Given the description of an element on the screen output the (x, y) to click on. 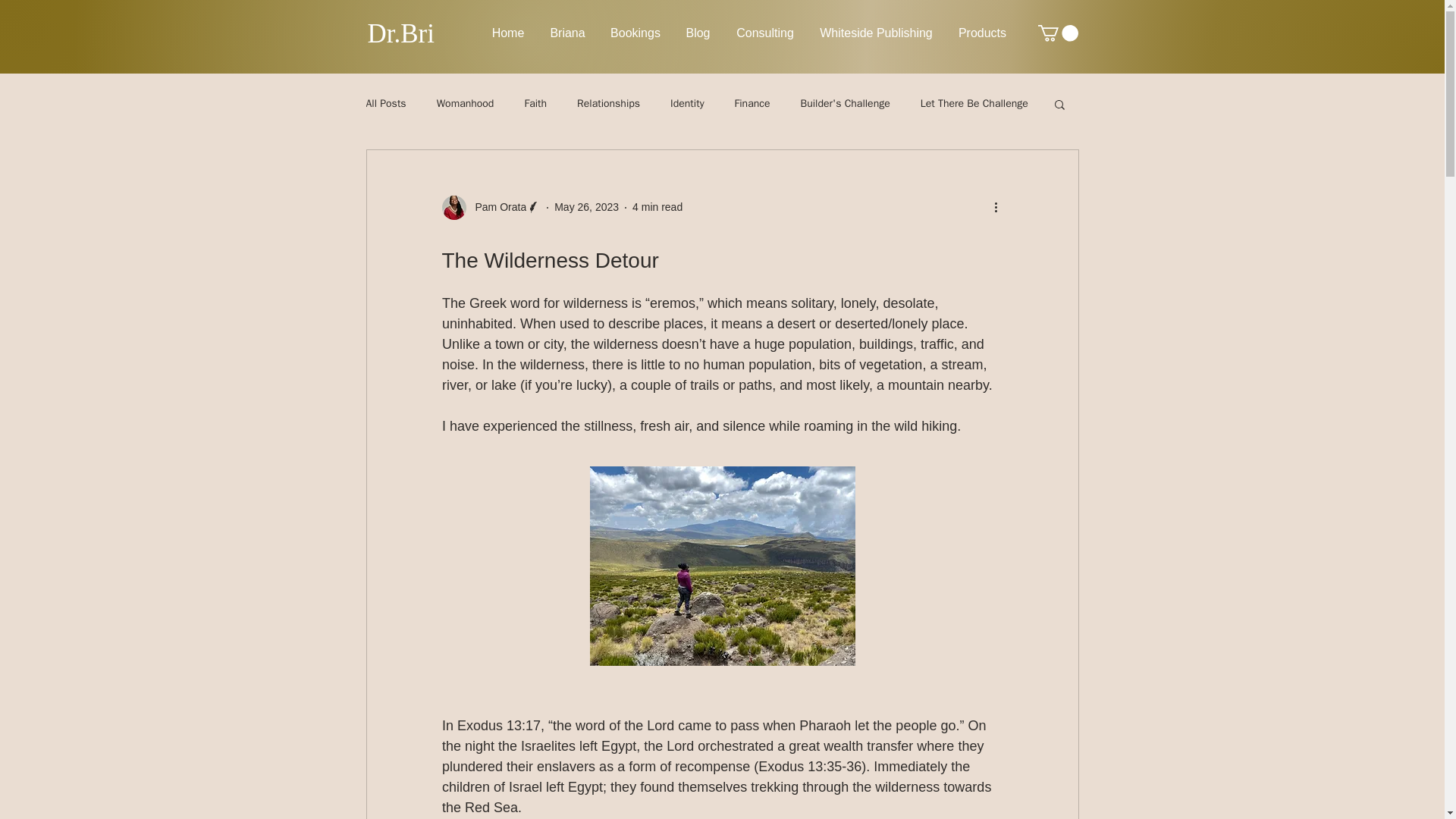
Briana (566, 33)
4 min read (656, 206)
Finance (752, 103)
Consulting (765, 33)
Bookings (634, 33)
Products (981, 33)
Pam Orata (490, 207)
Identity (686, 103)
Builder's Challenge (844, 103)
Womanhood (465, 103)
Blog (697, 33)
Whiteside Publishing (875, 33)
Let There Be Challenge (973, 103)
Faith (535, 103)
Pam Orata (495, 207)
